Given the description of an element on the screen output the (x, y) to click on. 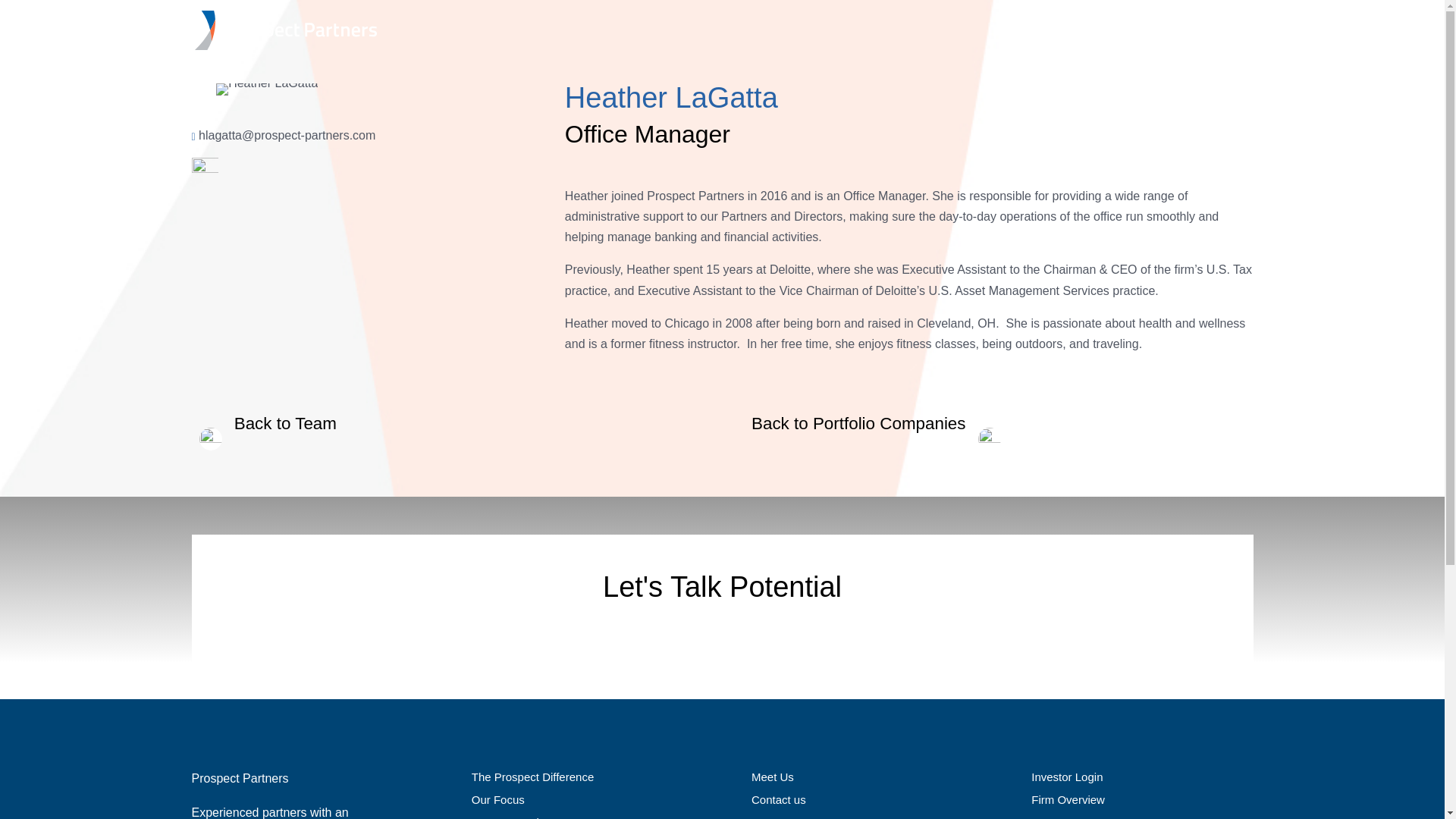
Our Focus (497, 799)
Firm Overview (1067, 799)
Meet Us (772, 776)
Investor Login (1066, 776)
Resources (778, 817)
Back to Portfolio Companies (880, 423)
The Prospect Difference (532, 776)
Heather LaGatta (266, 89)
Our Companies (511, 817)
Contact us (778, 799)
Back to Team (263, 423)
